Given the description of an element on the screen output the (x, y) to click on. 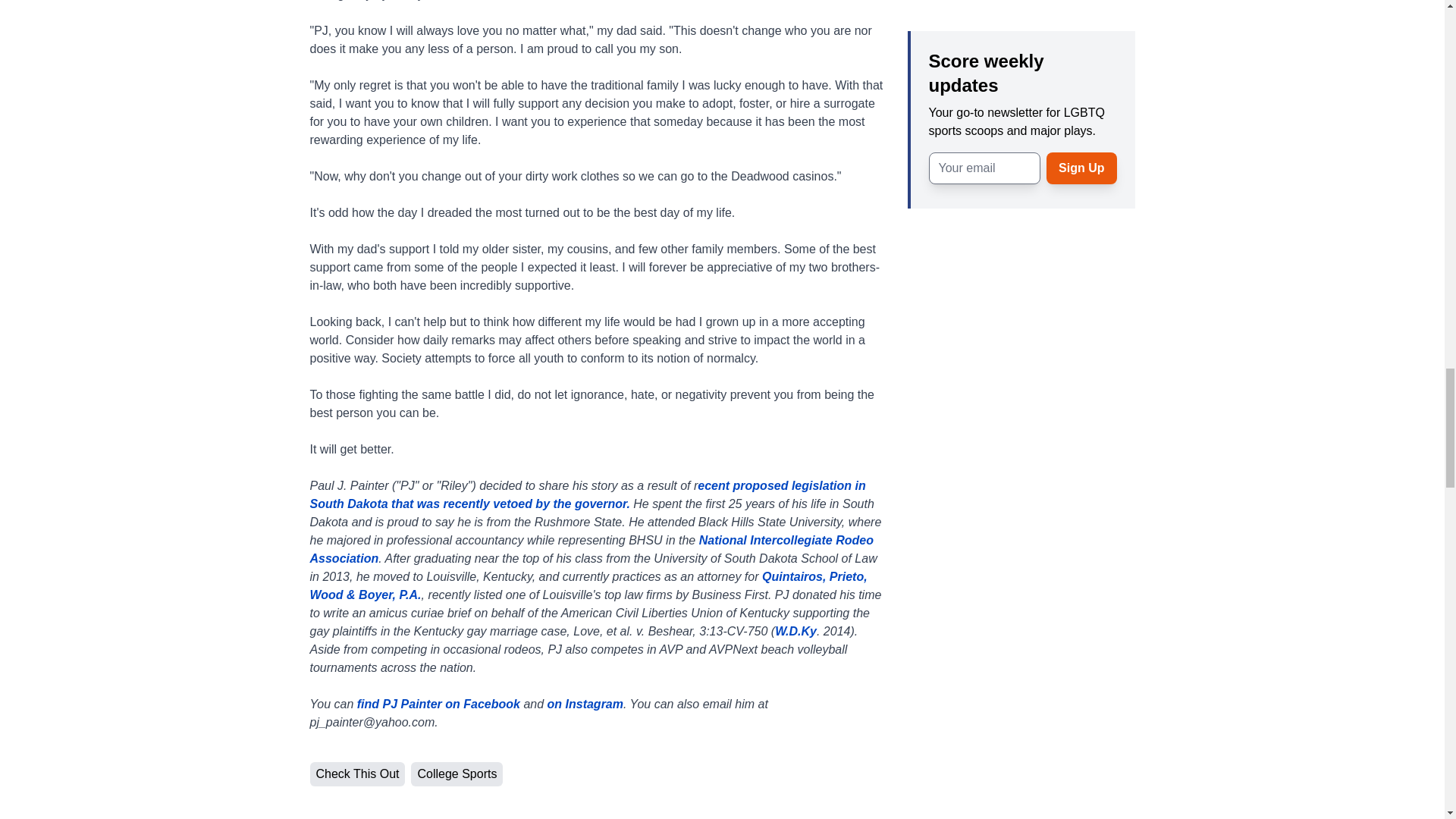
W.D.Ky (795, 631)
find PJ Painter on Facebook (437, 703)
Check This Out (356, 773)
on Instagram (585, 703)
National Intercollegiate Rodeo Association (590, 549)
College Sports (456, 773)
